Given the description of an element on the screen output the (x, y) to click on. 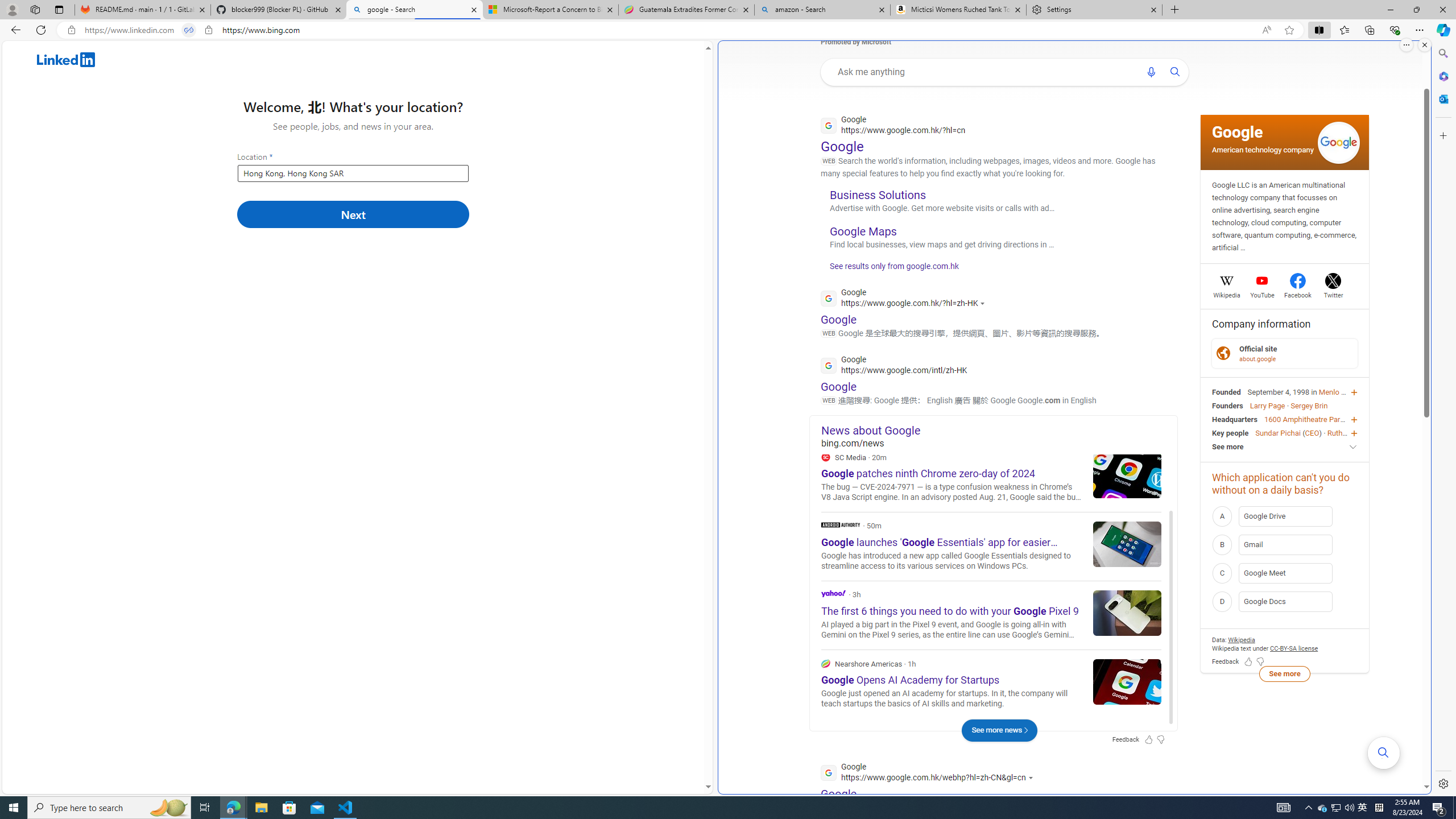
1600 Amphitheatre Parkway (1309, 418)
A Google Drive (1283, 516)
Twitter (1332, 293)
See more images of Google (1338, 142)
Facebook (1297, 293)
Founders (1227, 405)
Feedback Like (1248, 661)
Yahoo (833, 593)
CEO (1311, 432)
